Given the description of an element on the screen output the (x, y) to click on. 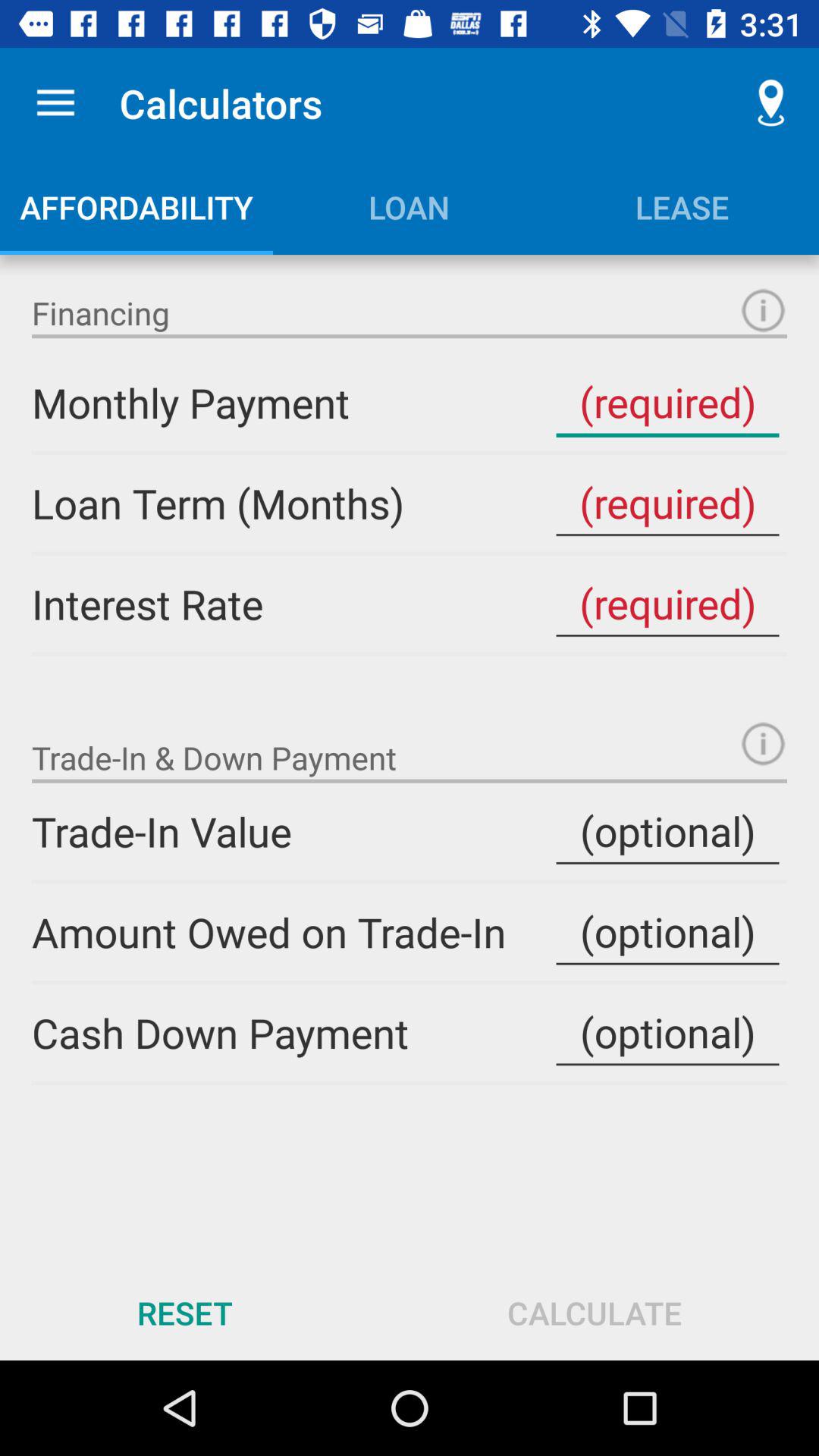
data line (667, 931)
